Given the description of an element on the screen output the (x, y) to click on. 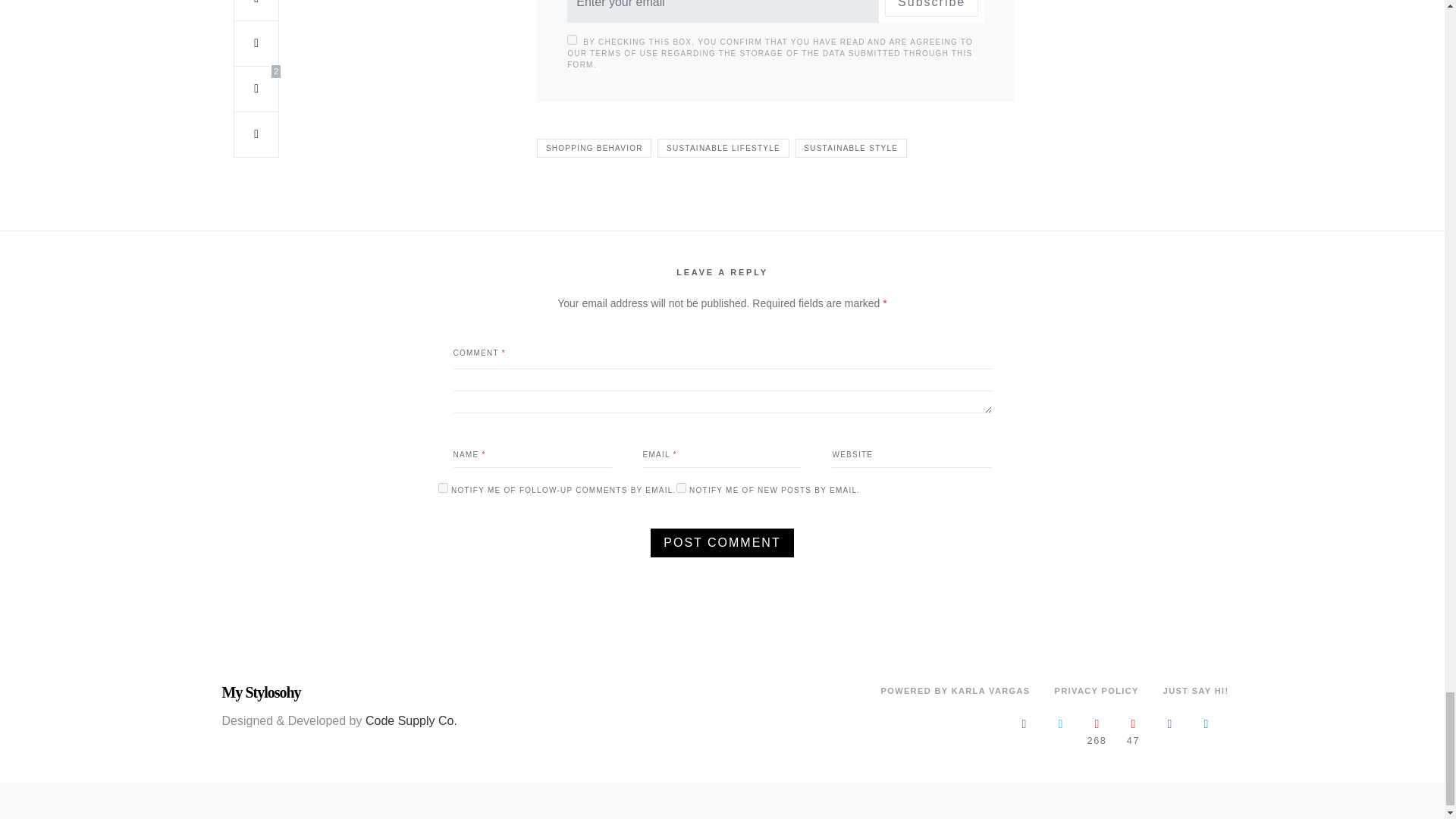
subscribe (681, 488)
on (571, 40)
Post Comment (721, 542)
subscribe (443, 488)
